Given the description of an element on the screen output the (x, y) to click on. 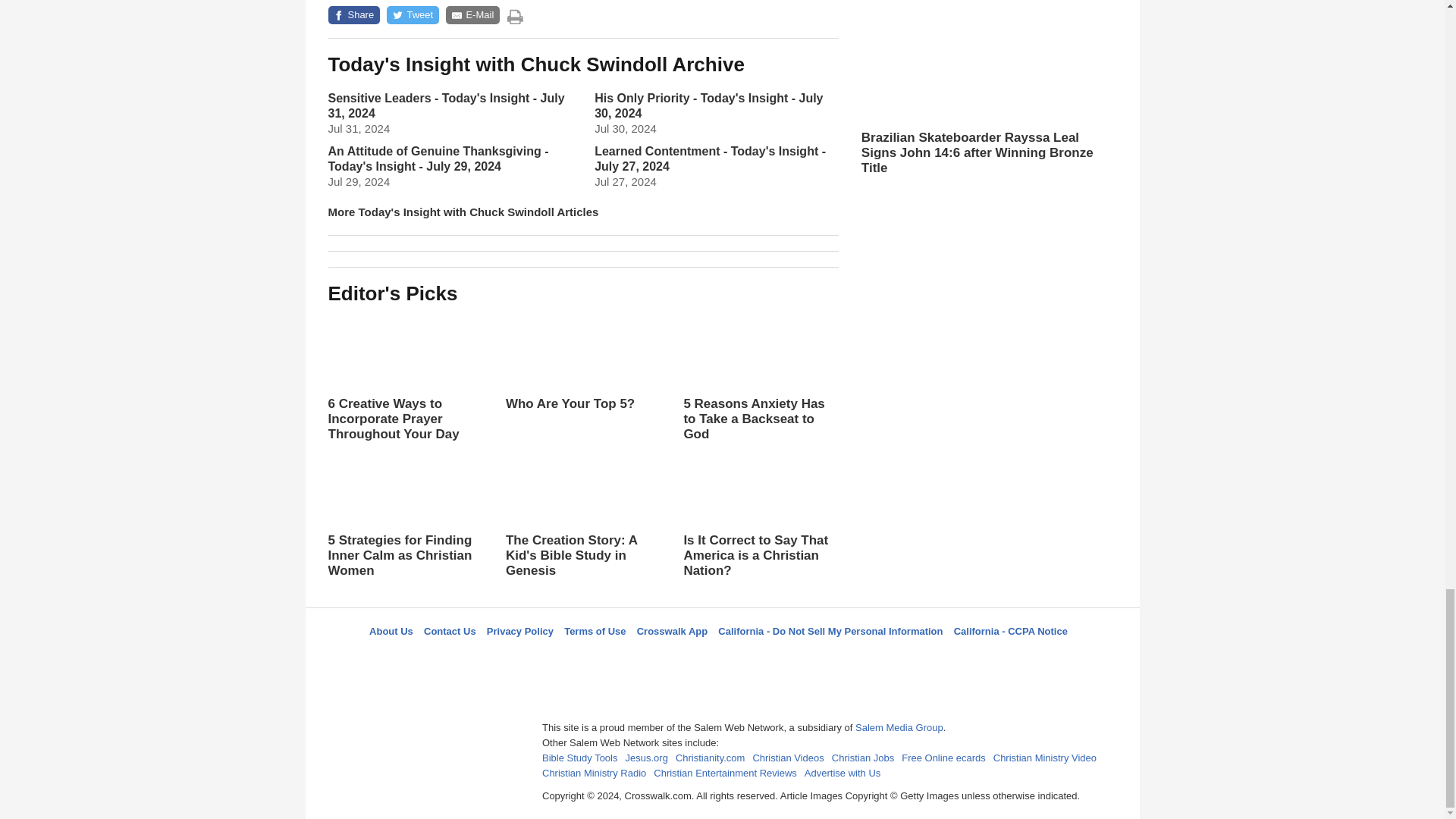
Facebook (645, 658)
Twitter (683, 658)
LifeAudio (719, 658)
5 Strategies for Finding Inner Calm as Christian Women (404, 512)
Pinterest (757, 658)
Is It Correct to Say That America is a Christian Nation? (760, 512)
YouTube (795, 658)
6 Creative Ways to Incorporate Prayer Throughout Your Day (404, 377)
5 Reasons Anxiety Has to Take a Backseat to God (760, 377)
The Creation Story: A Kid's Bible Study in Genesis (583, 527)
Who Are Your Top 5? (583, 376)
